Given the description of an element on the screen output the (x, y) to click on. 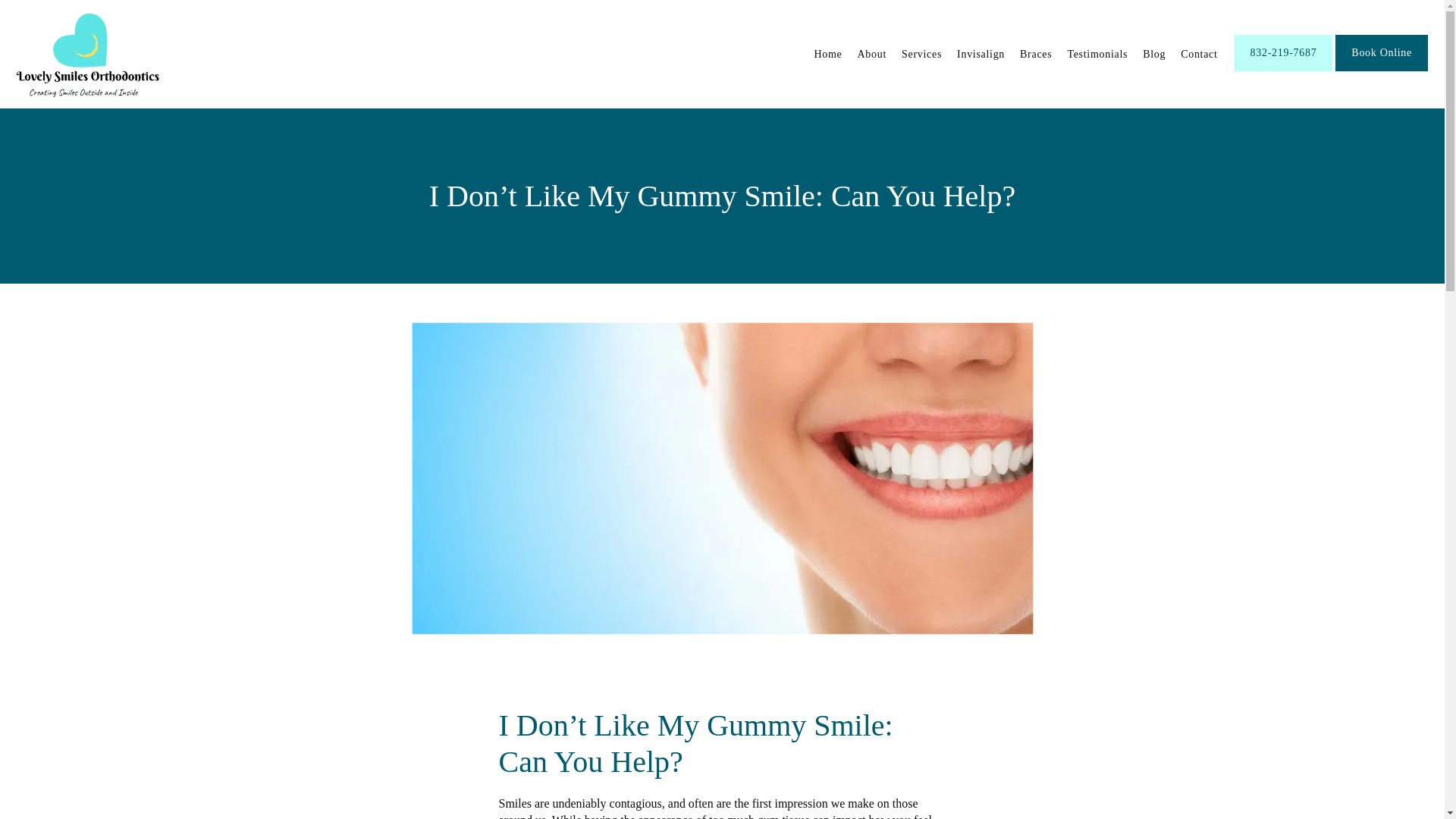
Home (828, 53)
Services (921, 53)
Contact (1198, 53)
Blog (1154, 53)
Braces (1035, 53)
About (871, 53)
Invisalign (980, 53)
832-219-7687 (1284, 69)
Book Online (1381, 69)
Testimonials (1096, 53)
